Given the description of an element on the screen output the (x, y) to click on. 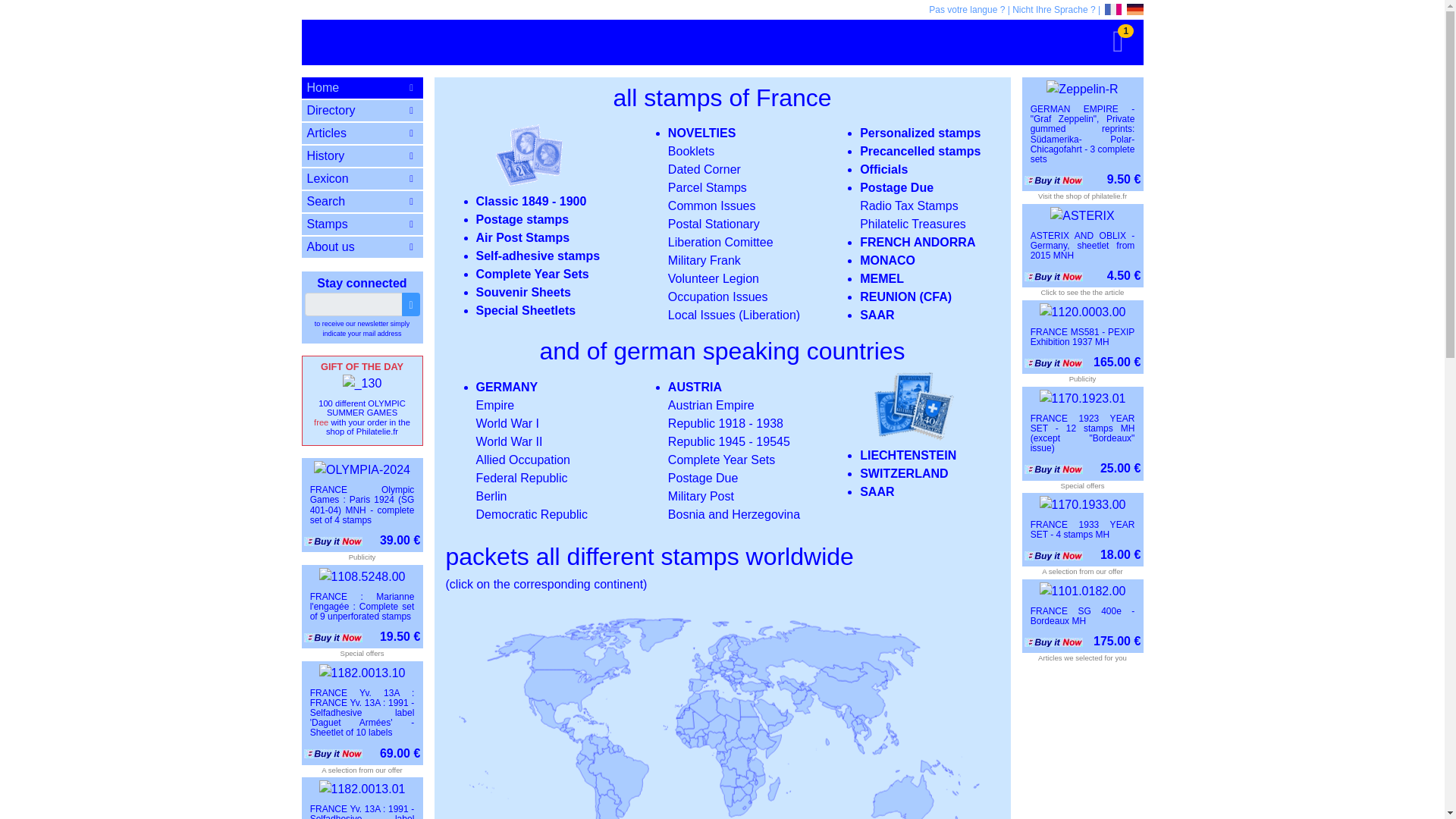
Classic 1849 - 1900 (531, 201)
justify-left (410, 133)
Articles (362, 133)
Postage stamps (522, 219)
Liberation Comittee (720, 241)
Air Post Stamps (523, 237)
Souvenir Sheets (523, 291)
Self-adhesive stamps (537, 255)
question-mark (410, 179)
History (362, 156)
